Given the description of an element on the screen output the (x, y) to click on. 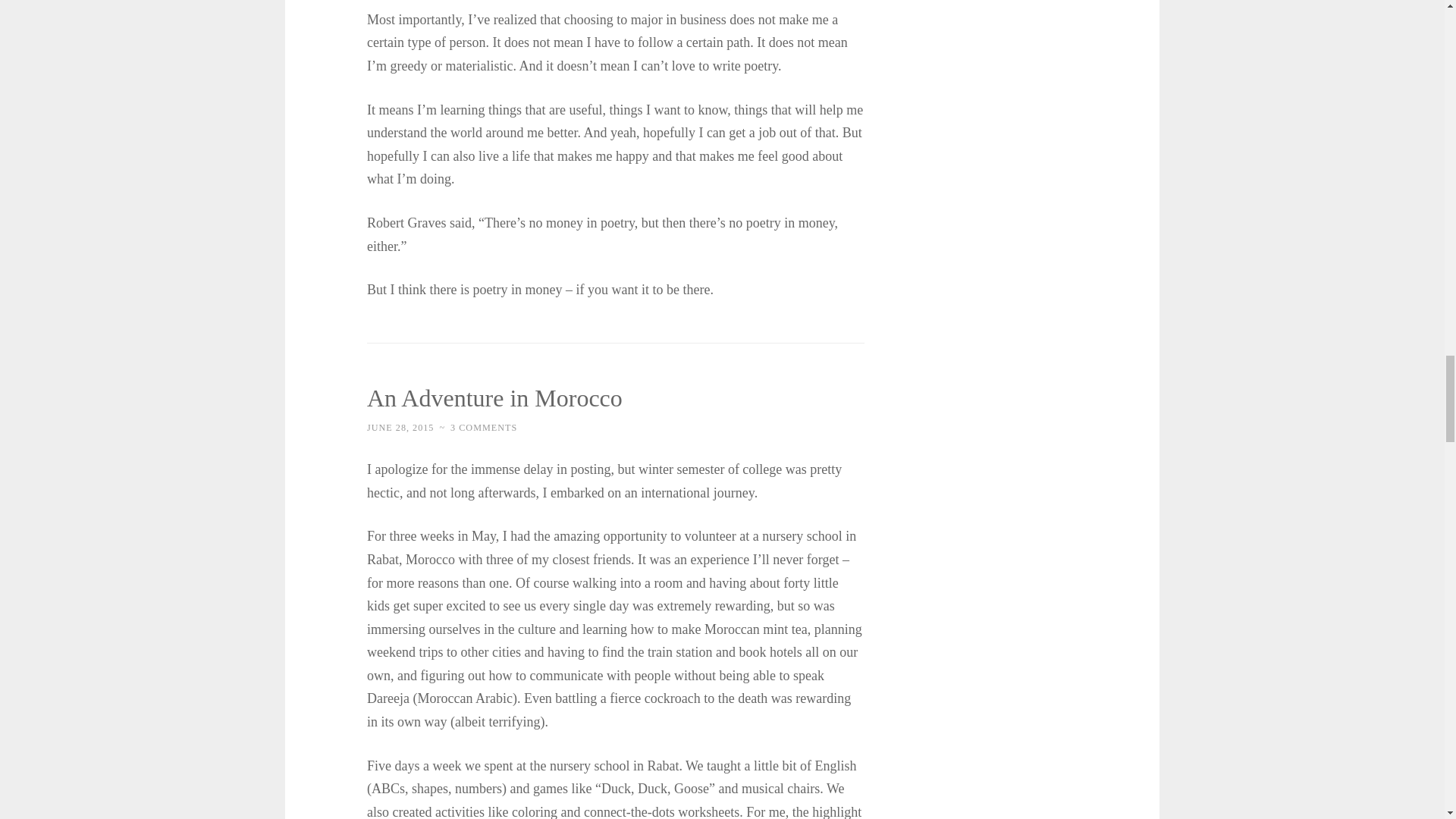
An Adventure in Morocco (494, 397)
3 COMMENTS (482, 427)
JUNE 28, 2015 (399, 427)
